Given the description of an element on the screen output the (x, y) to click on. 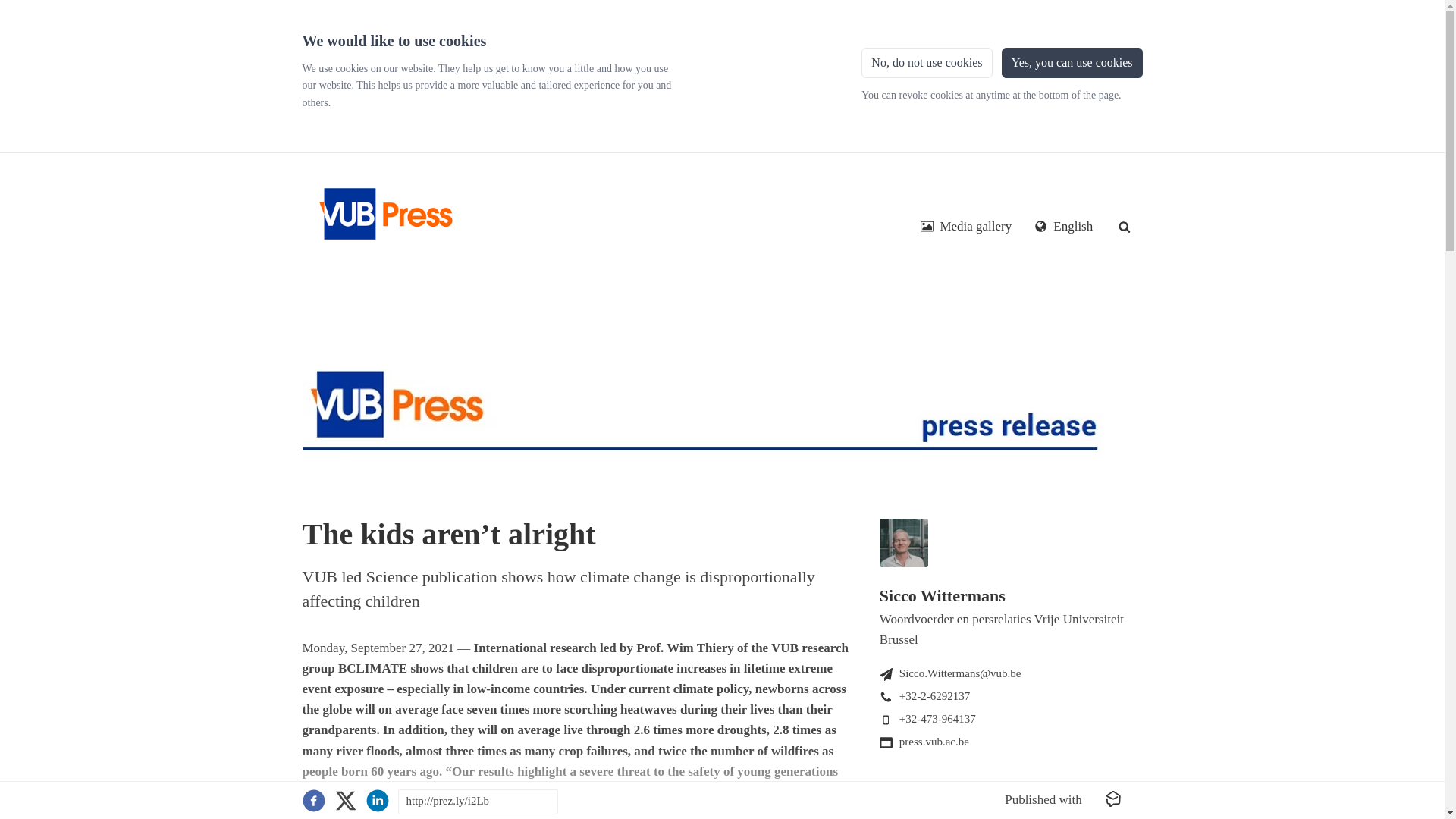
No, do not use cookies (926, 62)
Media gallery (965, 226)
Yes, you can use cookies (1071, 62)
Press - Vrije Universiteit Brussel (382, 207)
English (1063, 226)
Media gallery (965, 226)
English (1063, 226)
